Given the description of an element on the screen output the (x, y) to click on. 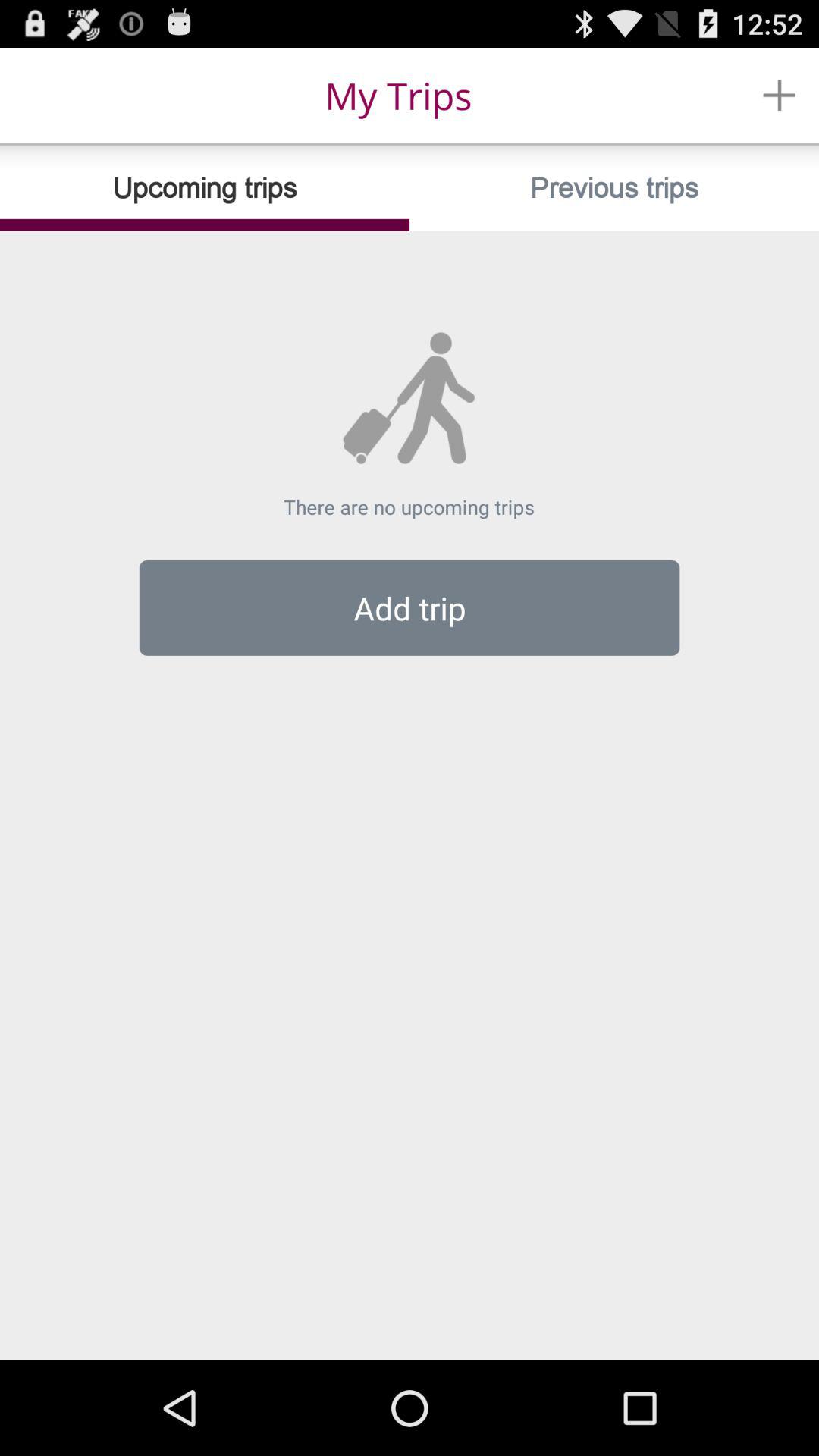
jump until previous trips (614, 187)
